Given the description of an element on the screen output the (x, y) to click on. 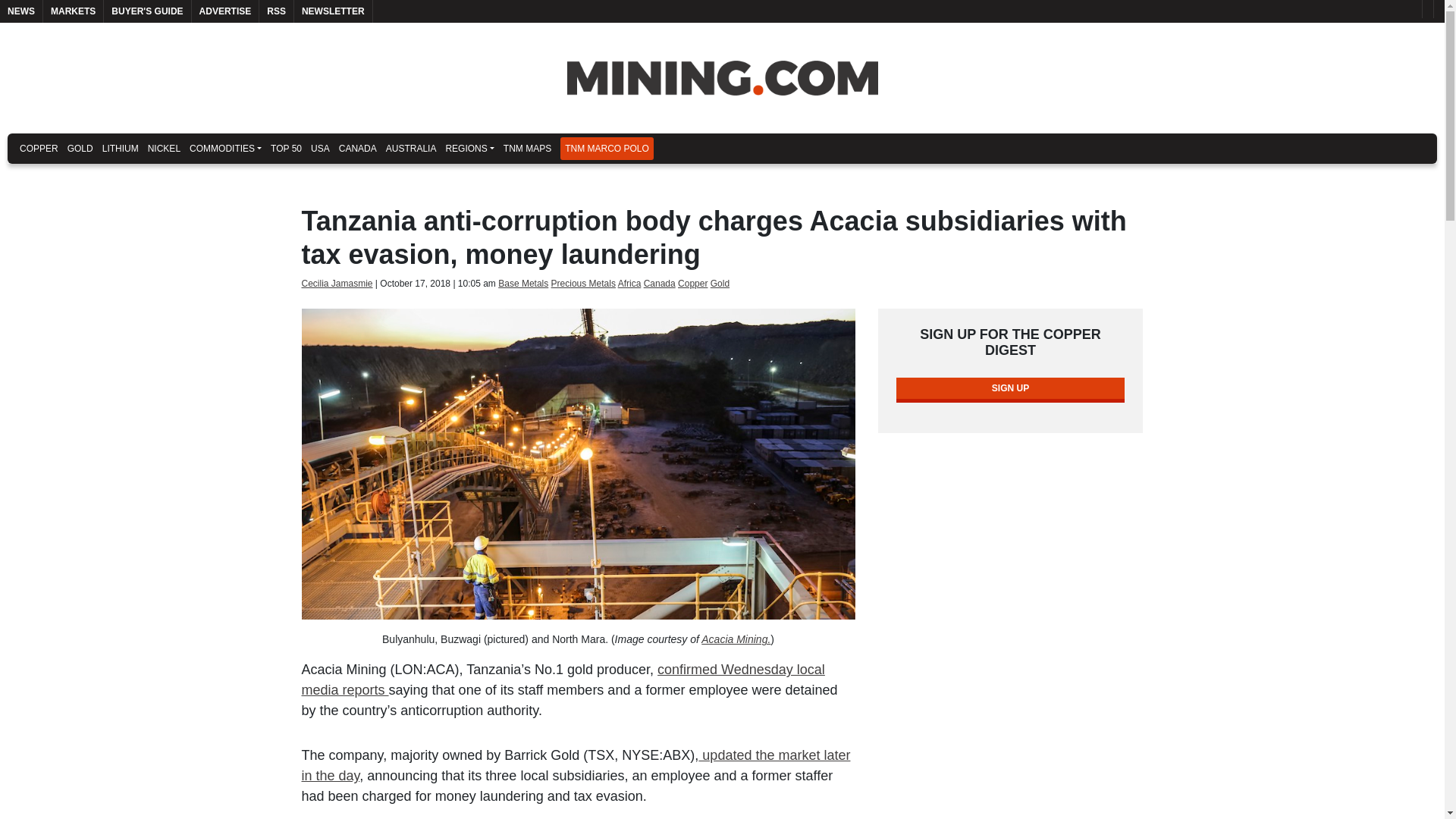
NEWS (21, 11)
LITHIUM (119, 148)
ADVERTISE (225, 11)
NEWSLETTER (333, 11)
COPPER (38, 148)
NICKEL (163, 148)
BUYER'S GUIDE (146, 11)
GOLD (79, 148)
COMMODITIES (225, 148)
RSS (276, 11)
MARKETS (73, 11)
